Given the description of an element on the screen output the (x, y) to click on. 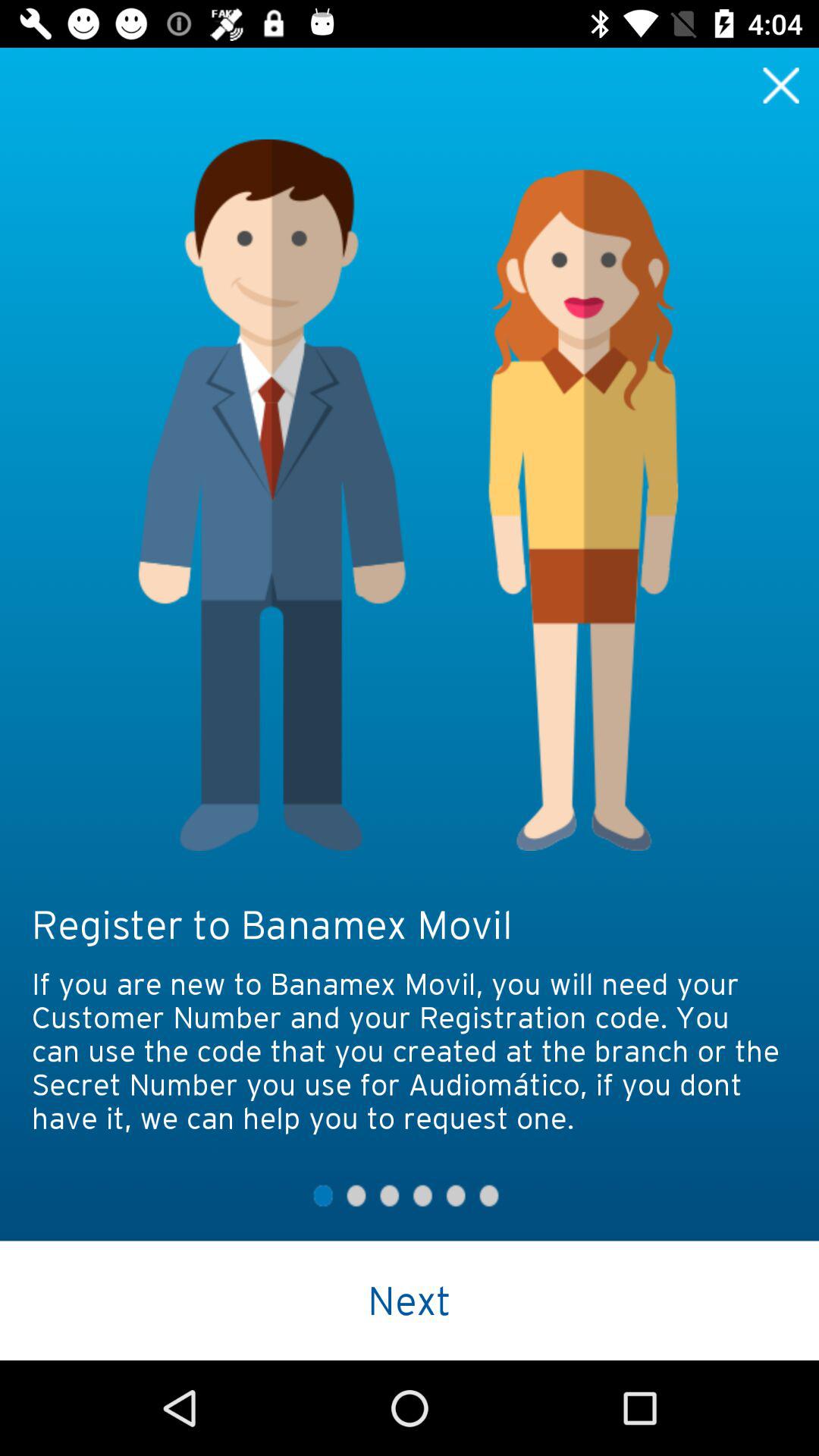
tap the next icon (409, 1300)
